Given the description of an element on the screen output the (x, y) to click on. 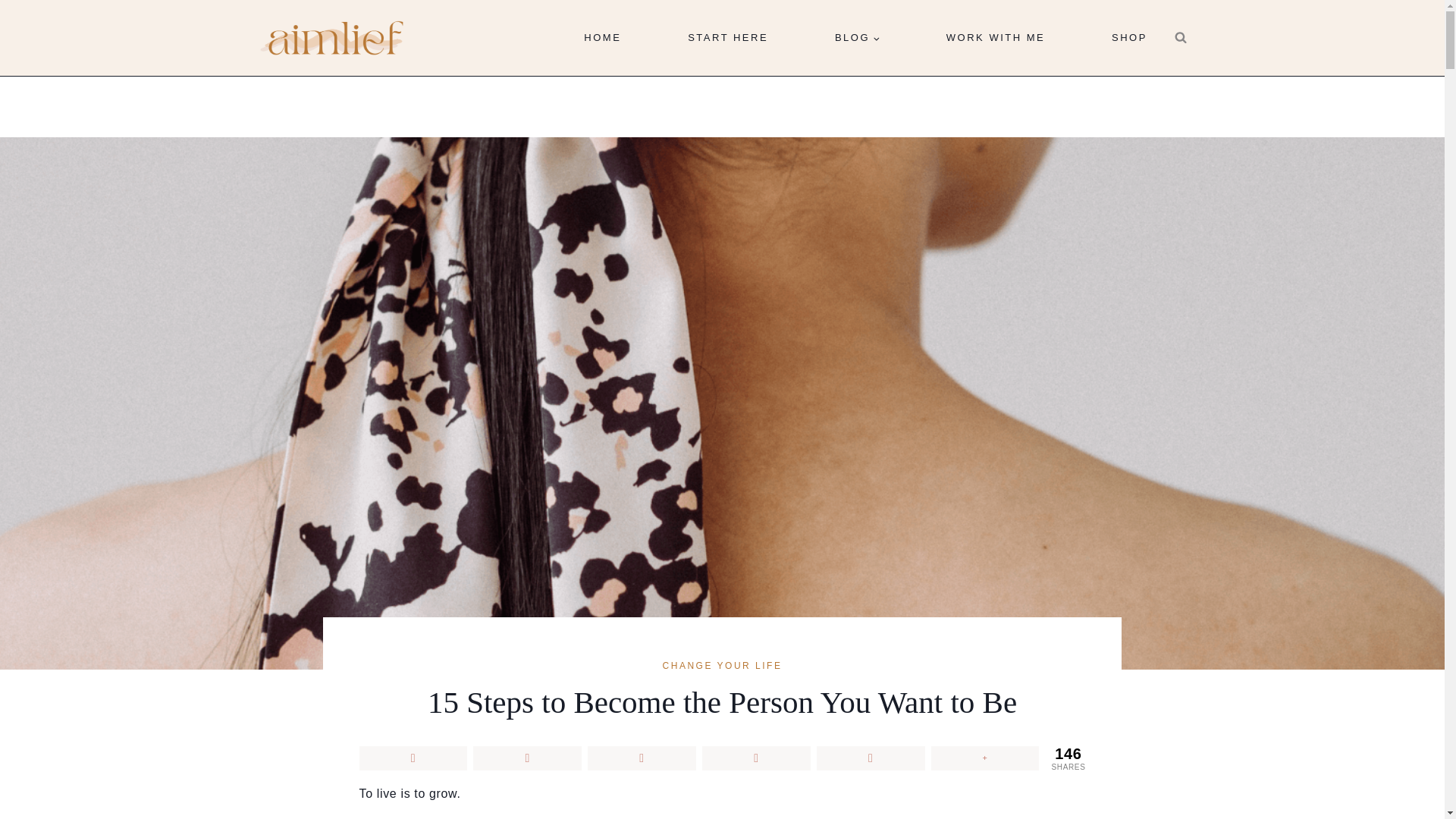
Telegram (870, 758)
SHOP (1128, 37)
BLOG (856, 37)
START HERE (728, 37)
WORK WITH ME (995, 37)
HOME (602, 37)
WhatsApp (755, 758)
More share links (985, 758)
Share this on Facebook (413, 758)
CHANGE YOUR LIFE (722, 665)
Submit this to Pinterest (641, 758)
Tweet this ! (526, 758)
